Given the description of an element on the screen output the (x, y) to click on. 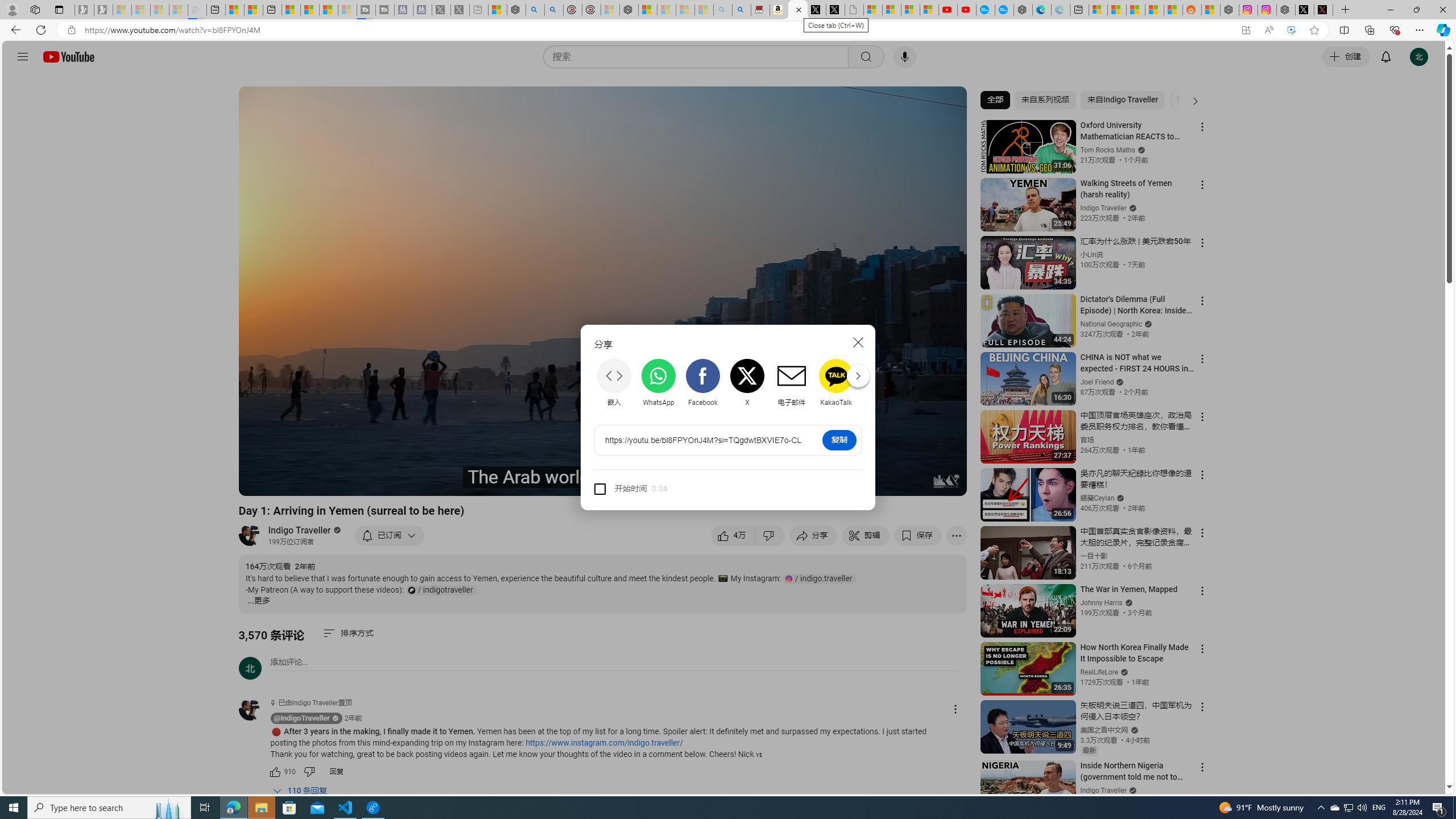
Class: style-scope tp-yt-paper-input (664, 488)
